Given the description of an element on the screen output the (x, y) to click on. 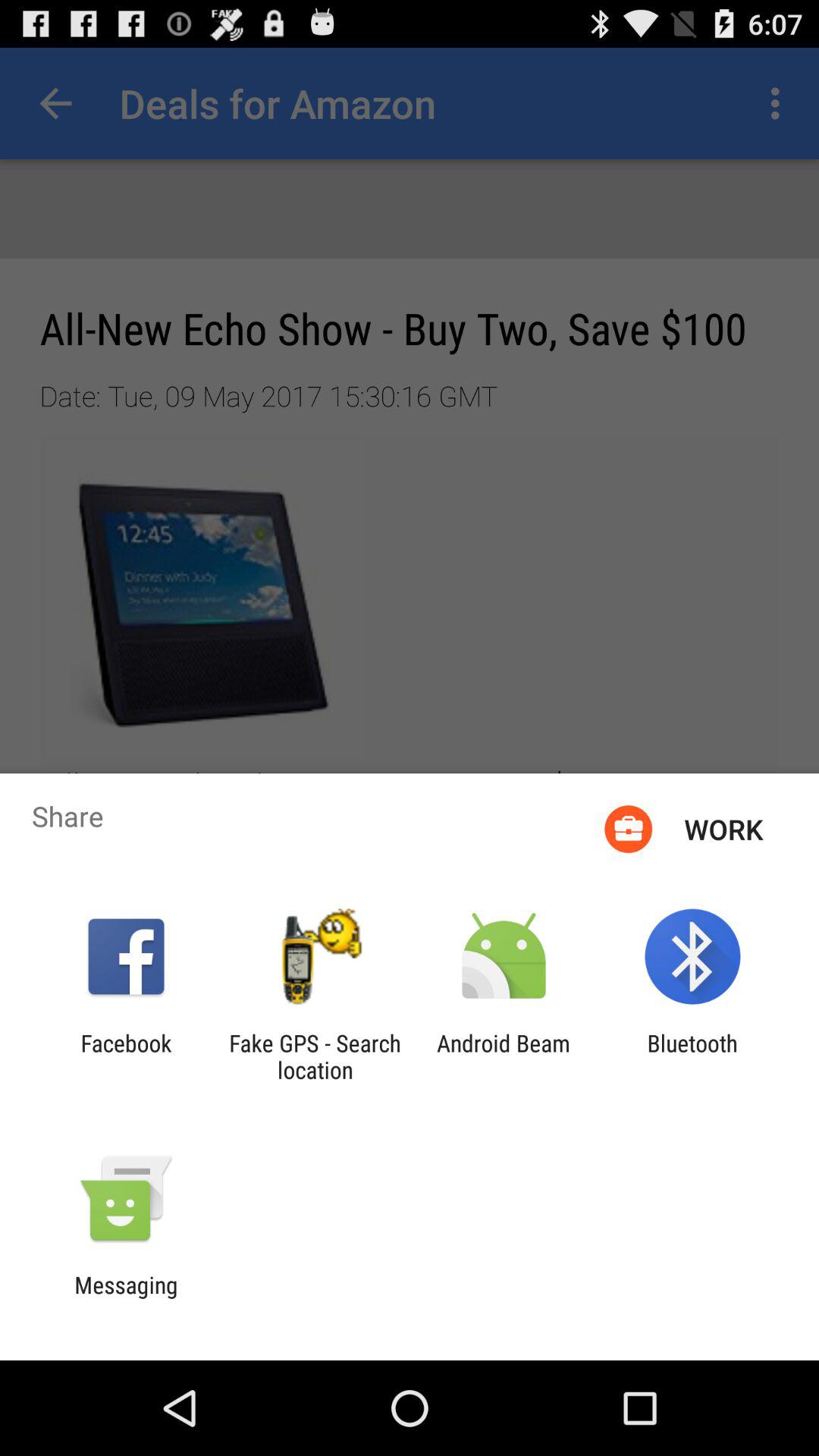
swipe until messaging item (126, 1298)
